Given the description of an element on the screen output the (x, y) to click on. 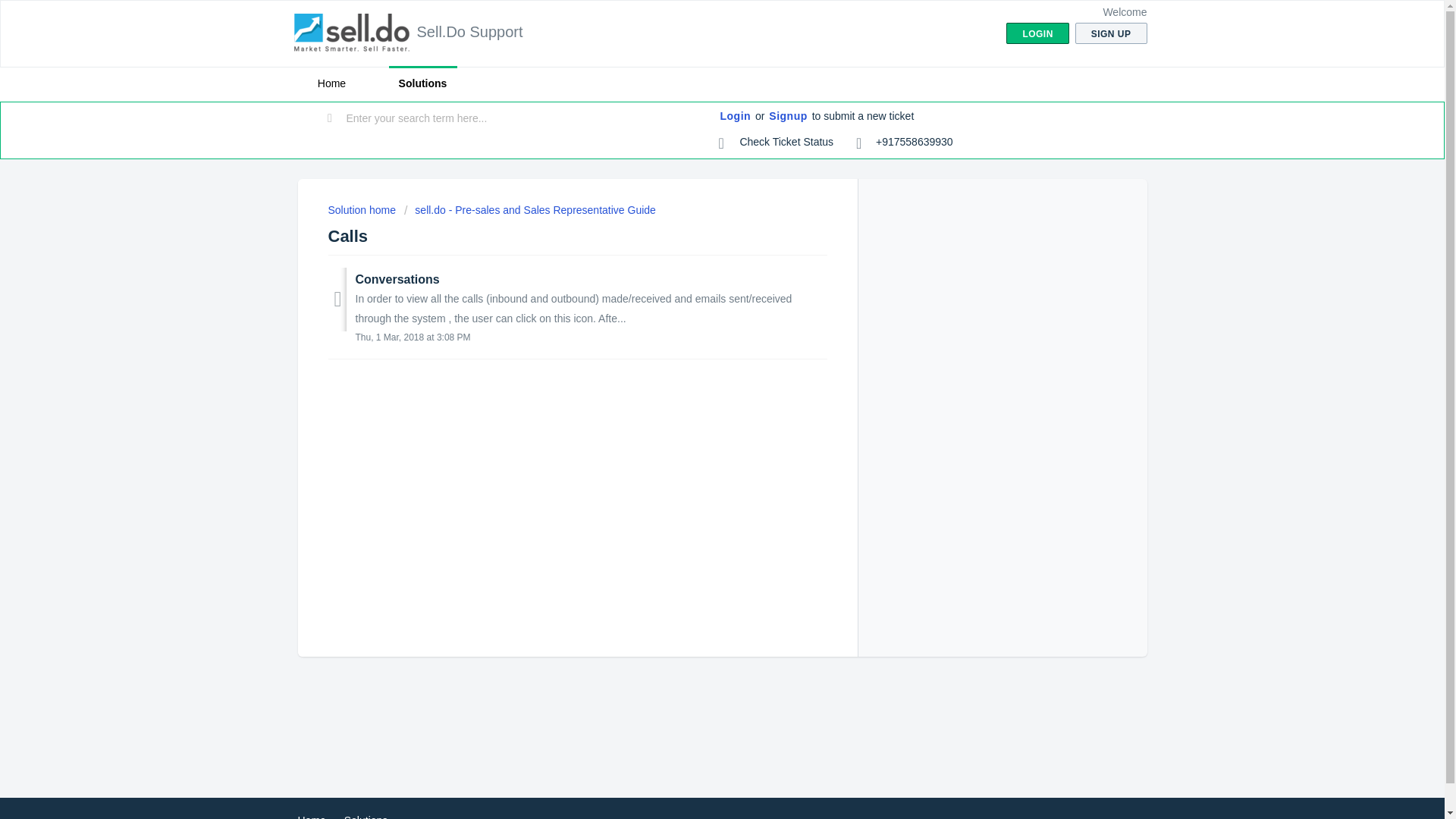
Home (331, 83)
Solutions (365, 816)
Home (310, 816)
Signup (787, 116)
LOGIN (1037, 33)
Solution home (362, 209)
Conversations (397, 278)
sell.do - Pre-sales and Sales Representative Guide (530, 209)
Check ticket status (776, 142)
Solutions (422, 83)
